Given the description of an element on the screen output the (x, y) to click on. 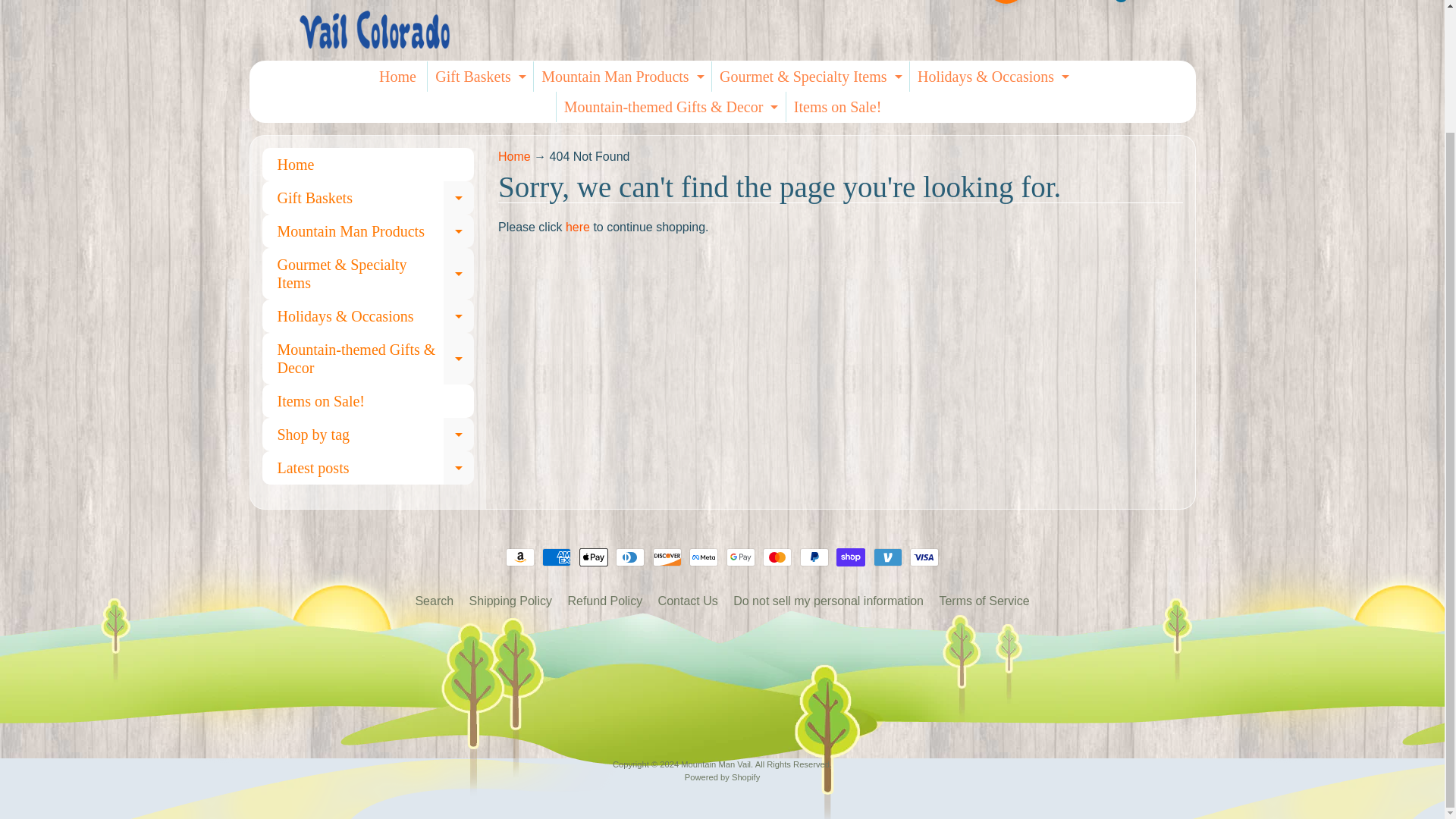
Visa (924, 556)
Google Pay (740, 556)
PayPal (813, 556)
Discover (666, 556)
Shop Pay (849, 556)
Back to the home page (514, 155)
Amazon (519, 556)
Home (397, 76)
Mastercard (777, 556)
Venmo (887, 556)
